Given the description of an element on the screen output the (x, y) to click on. 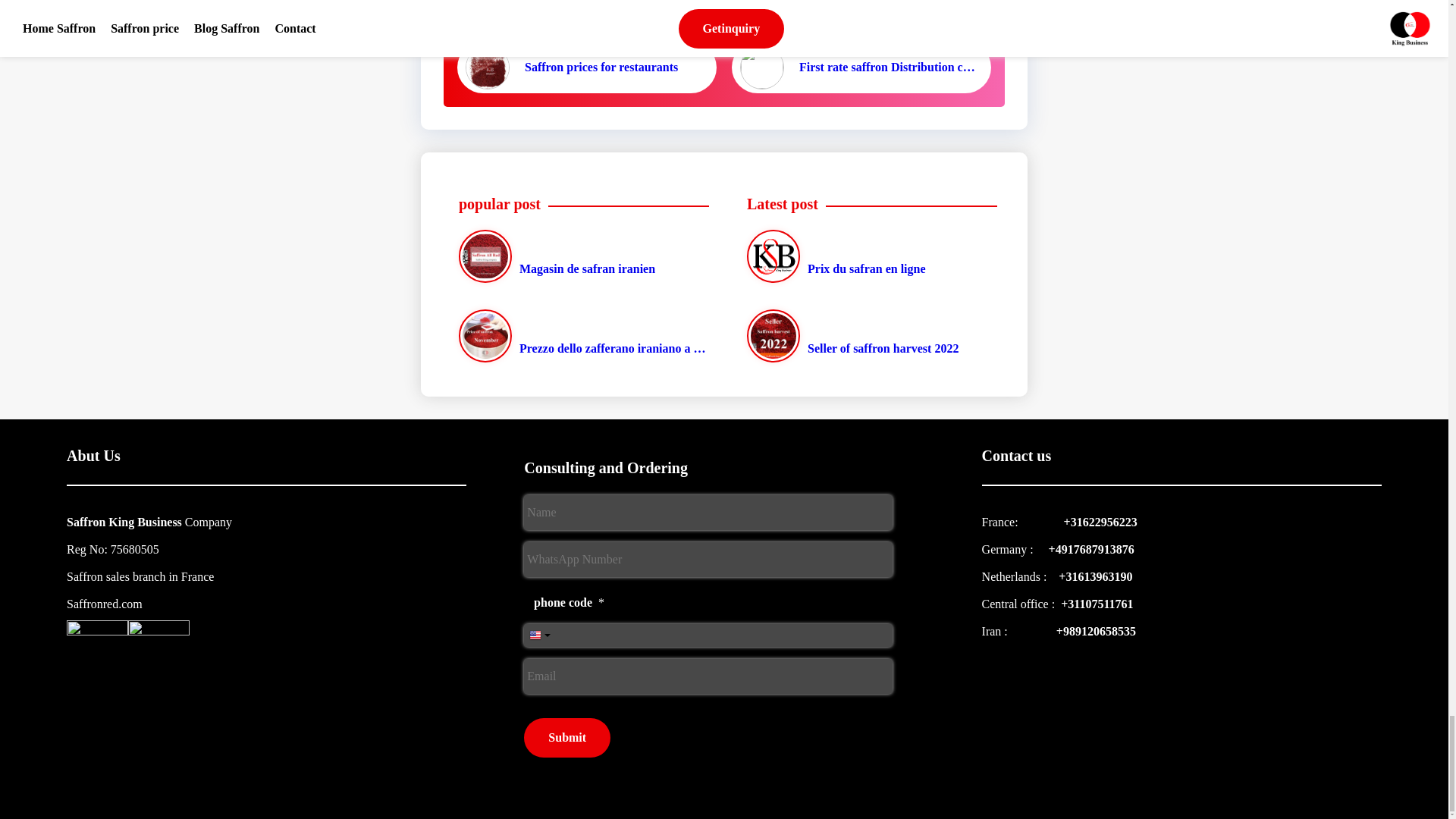
Magasin de safran iranien (580, 255)
Submit (567, 737)
Prezzo dello zafferano iraniano a novembre (580, 336)
Seller of saffron harvest 2022 (868, 336)
